Given the description of an element on the screen output the (x, y) to click on. 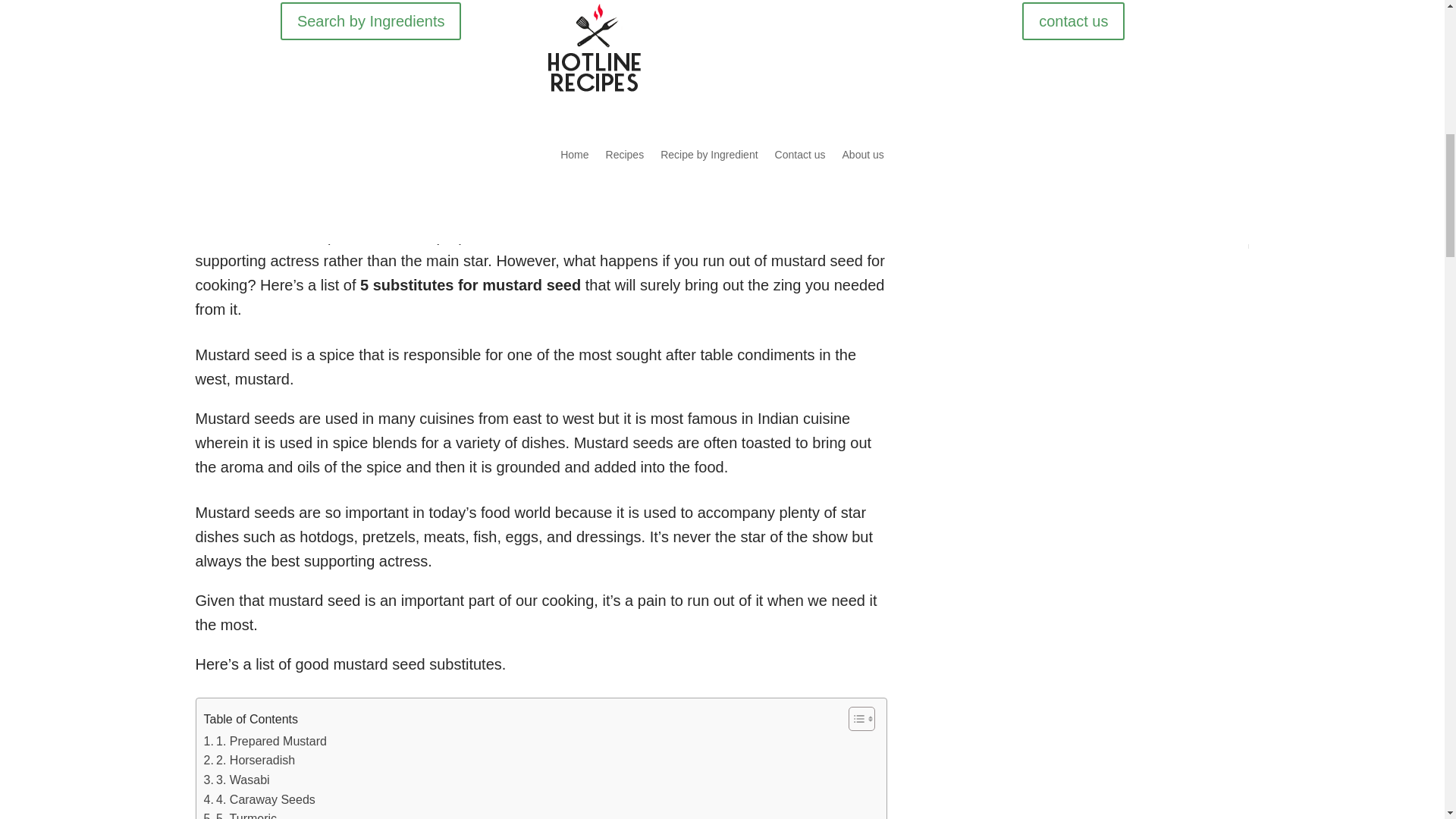
2. Horseradish (249, 760)
Cooking Tips (343, 196)
3. Wasabi (236, 780)
1. Prepared Mustard (264, 741)
3. Wasabi (236, 780)
1. Prepared Mustard (264, 741)
Substitute-for-mustard-seed (536, 54)
4. Caraway Seeds (258, 799)
5. Turmeric (239, 814)
4. Caraway Seeds (258, 799)
2. Horseradish (249, 760)
5. Turmeric (239, 814)
